Given the description of an element on the screen output the (x, y) to click on. 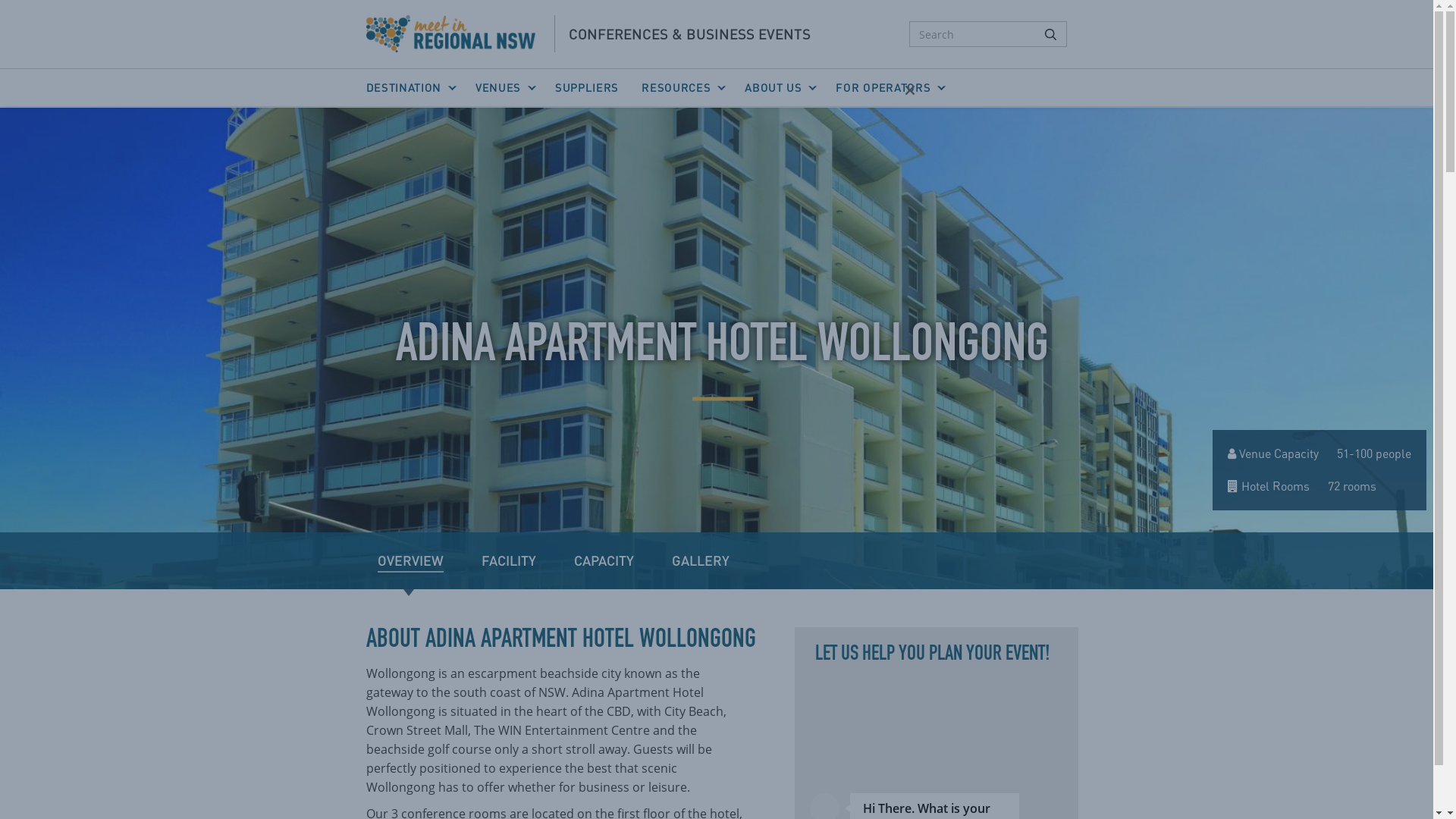
FACILITY Element type: text (507, 560)
CAPACITY Element type: text (603, 560)
GALLERY Element type: text (700, 560)
SUPPLIERS Element type: text (586, 87)
FOR OPERATORS Element type: text (888, 87)
ABOUT US Element type: text (778, 87)
DESTINATION Element type: text (414, 87)
RESOURCES Element type: text (681, 87)
Search Element type: text (1049, 33)
Enter the terms you wish to search for. Element type: hover (987, 34)
VENUES Element type: text (503, 87)
Skip to main content Element type: text (0, 107)
OVERVIEW Element type: text (410, 560)
